Given the description of an element on the screen output the (x, y) to click on. 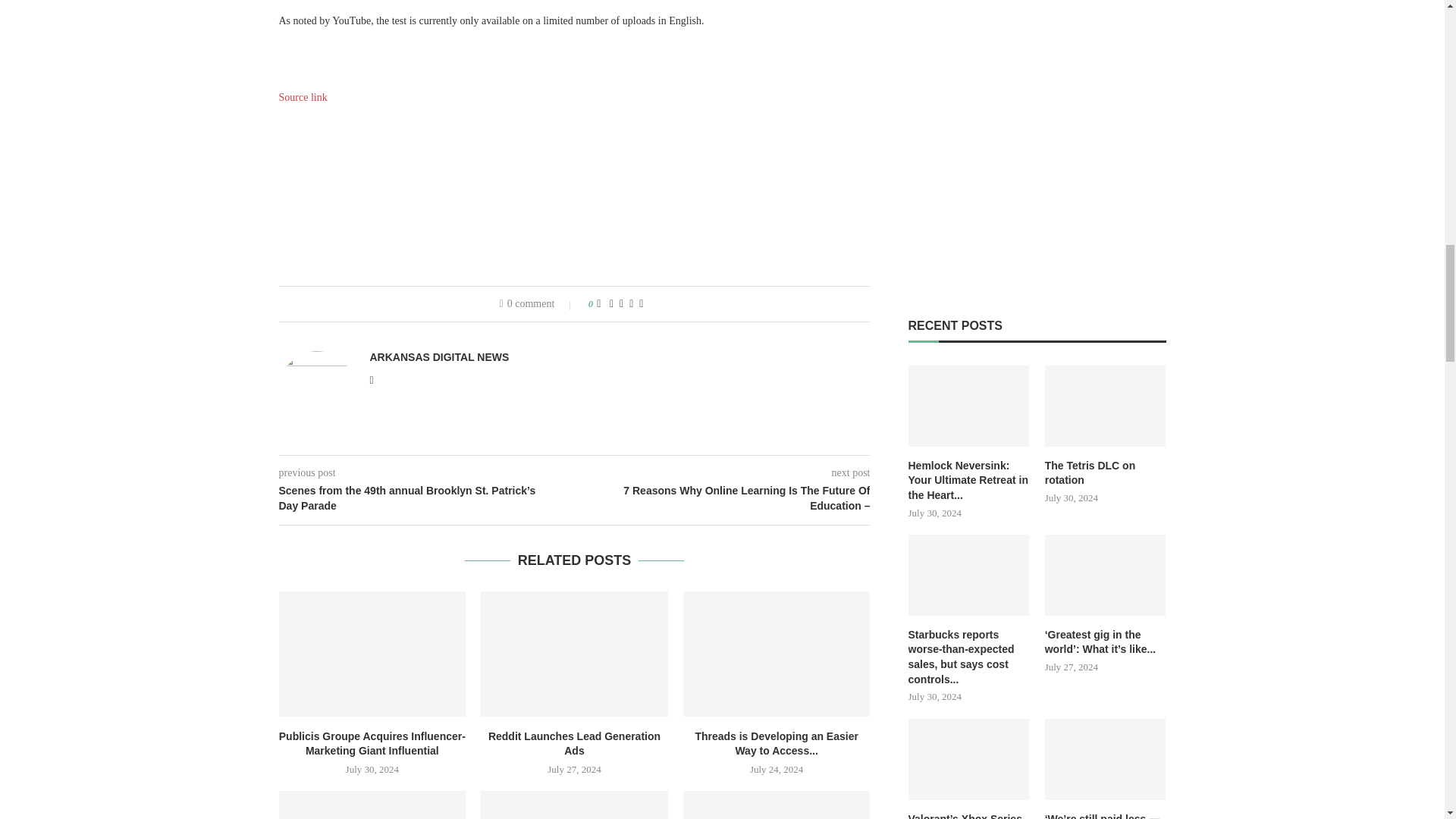
YouTube Tests Community Spaces to Drive Fan Engagement (776, 805)
X Will Allow Users To Request a Community Note on Posts (372, 805)
The Tetris DLC on rotation (1105, 473)
Reddit Launches Lead Generation Ads (574, 653)
The Tetris DLC on rotation (1105, 405)
Snap Launches Snap Sports Network to Cover Niche Events (574, 805)
Author ARKANSAS DIGITAL NEWS (439, 357)
